Given the description of an element on the screen output the (x, y) to click on. 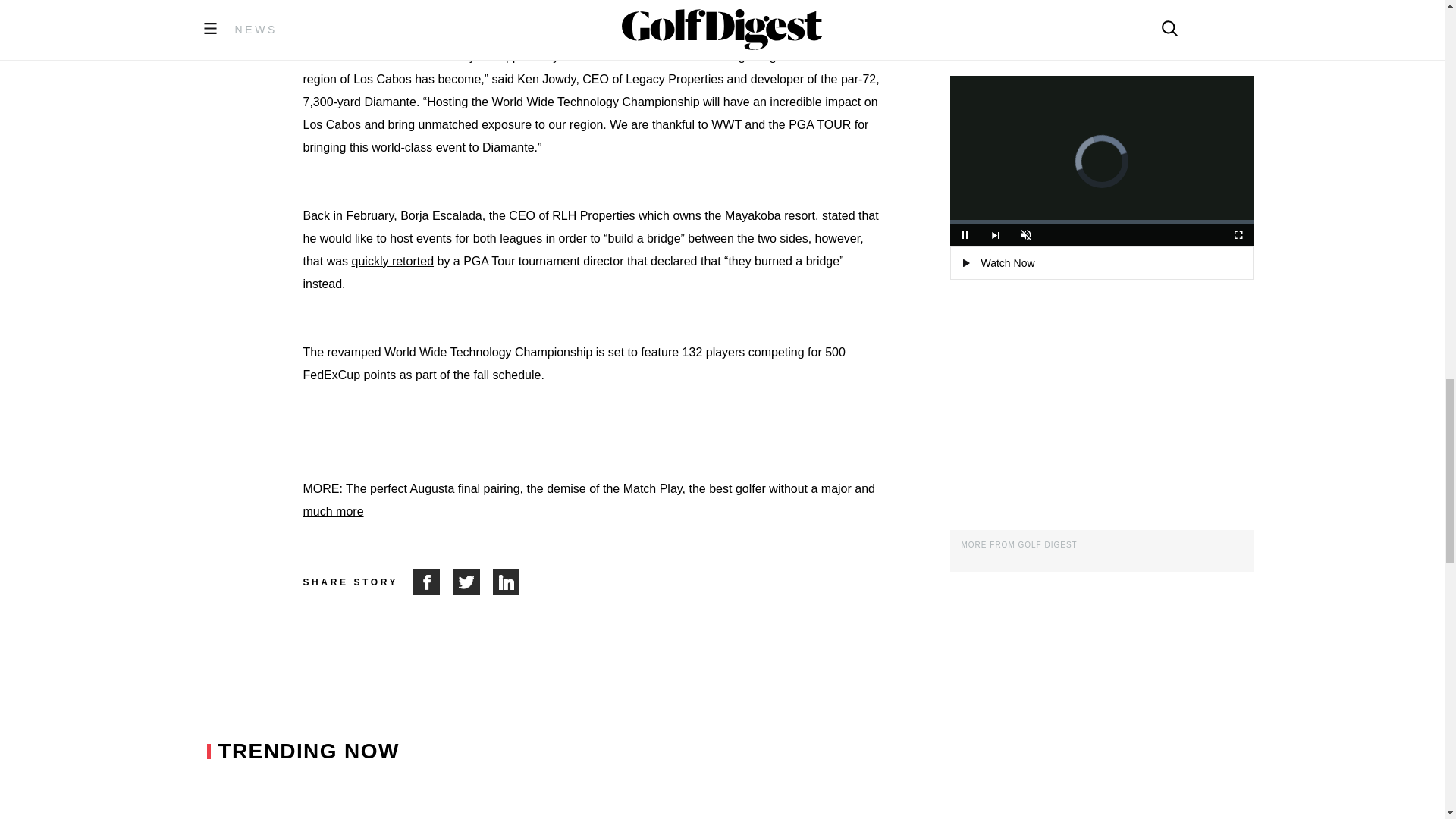
Share on LinkedIn (506, 581)
Share on Twitter (472, 581)
Share on Facebook (432, 581)
